Given the description of an element on the screen output the (x, y) to click on. 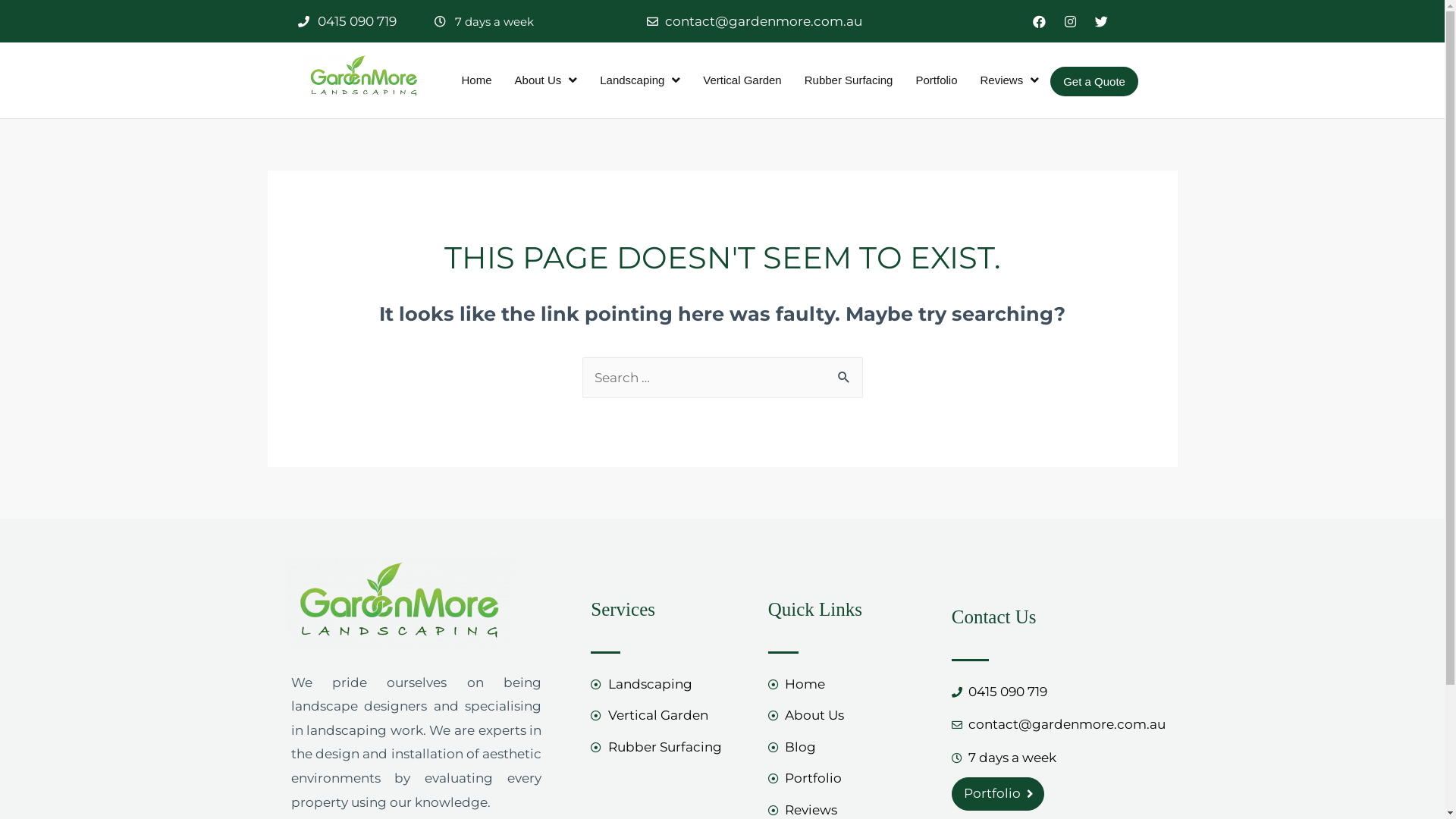
contact@gardenmore.com.au Element type: text (754, 21)
0415 090 719 Element type: text (1054, 692)
Blog Element type: text (852, 747)
Portfolio Element type: text (852, 778)
Reviews Element type: text (1009, 79)
Get a Quote Element type: text (1094, 81)
Home Element type: text (852, 684)
About Us Element type: text (546, 79)
contact@gardenmore.com.au Element type: text (1054, 724)
Vertical Garden Element type: text (741, 79)
Home Element type: text (476, 79)
Search Element type: text (845, 372)
Portfolio Element type: text (997, 793)
Landscaping Element type: text (639, 79)
Vertical Garden Element type: text (671, 715)
Portfolio Element type: text (935, 79)
0415 090 719 Element type: text (346, 21)
Rubber Surfacing Element type: text (671, 747)
About Us Element type: text (852, 715)
Rubber Surfacing Element type: text (848, 79)
Landscaping Element type: text (671, 684)
